Given the description of an element on the screen output the (x, y) to click on. 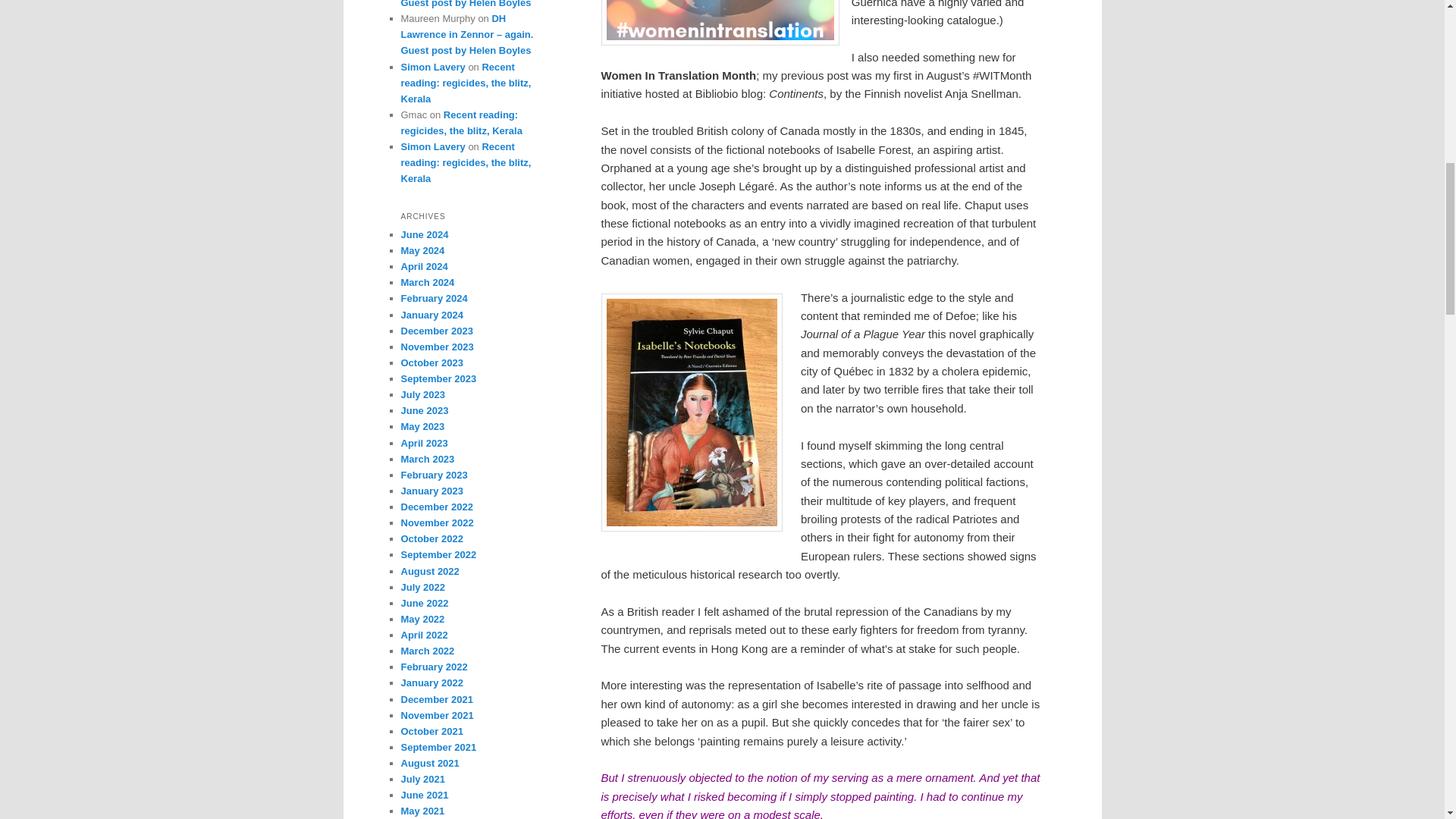
Recent reading: regicides, the blitz, Kerala (460, 122)
Simon Lavery (432, 66)
Simon Lavery (432, 146)
Recent reading: regicides, the blitz, Kerala (465, 82)
Recent reading: regicides, the blitz, Kerala (465, 162)
June 2024 (424, 234)
